Given the description of an element on the screen output the (x, y) to click on. 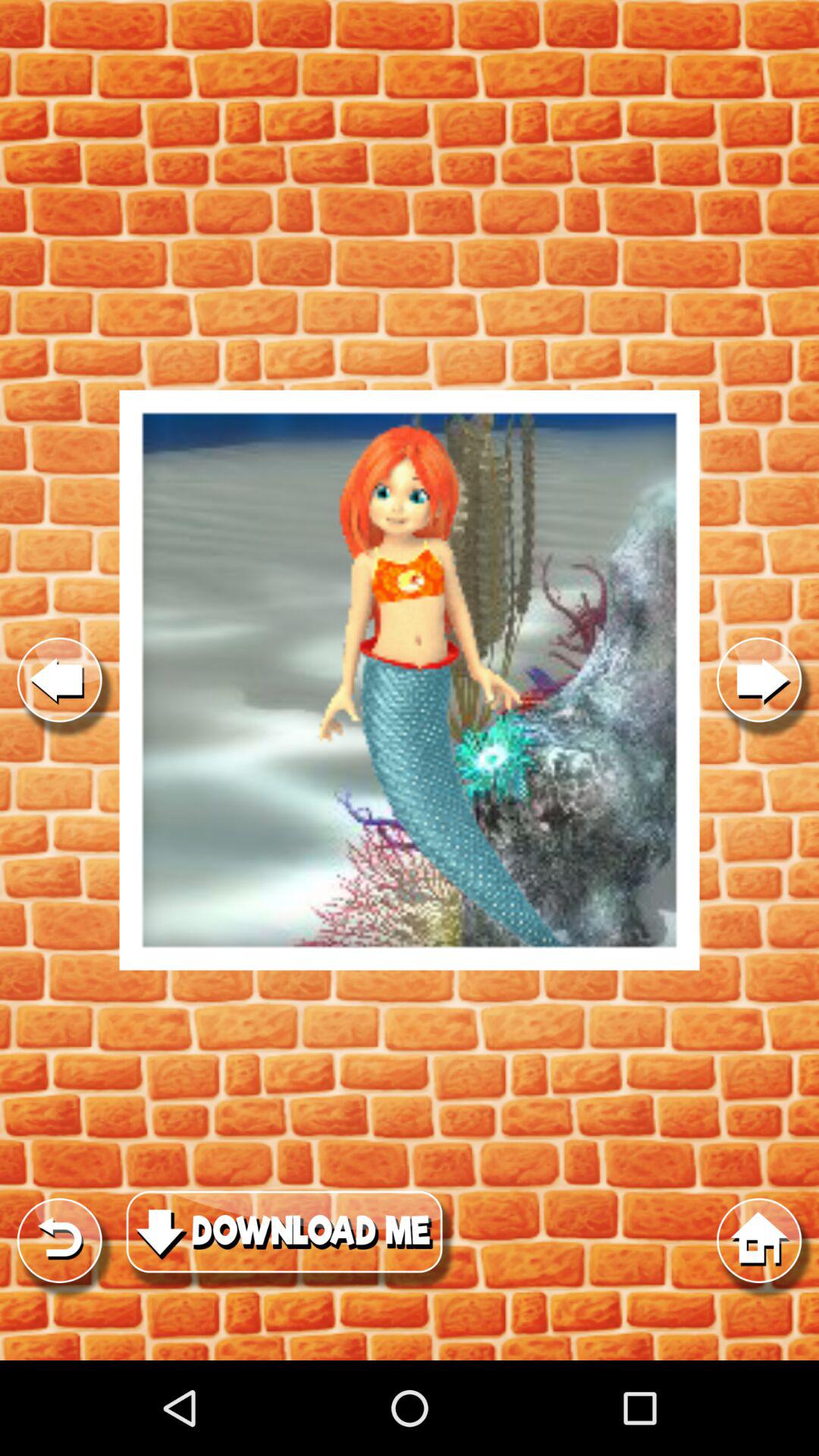
go back (59, 679)
